Given the description of an element on the screen output the (x, y) to click on. 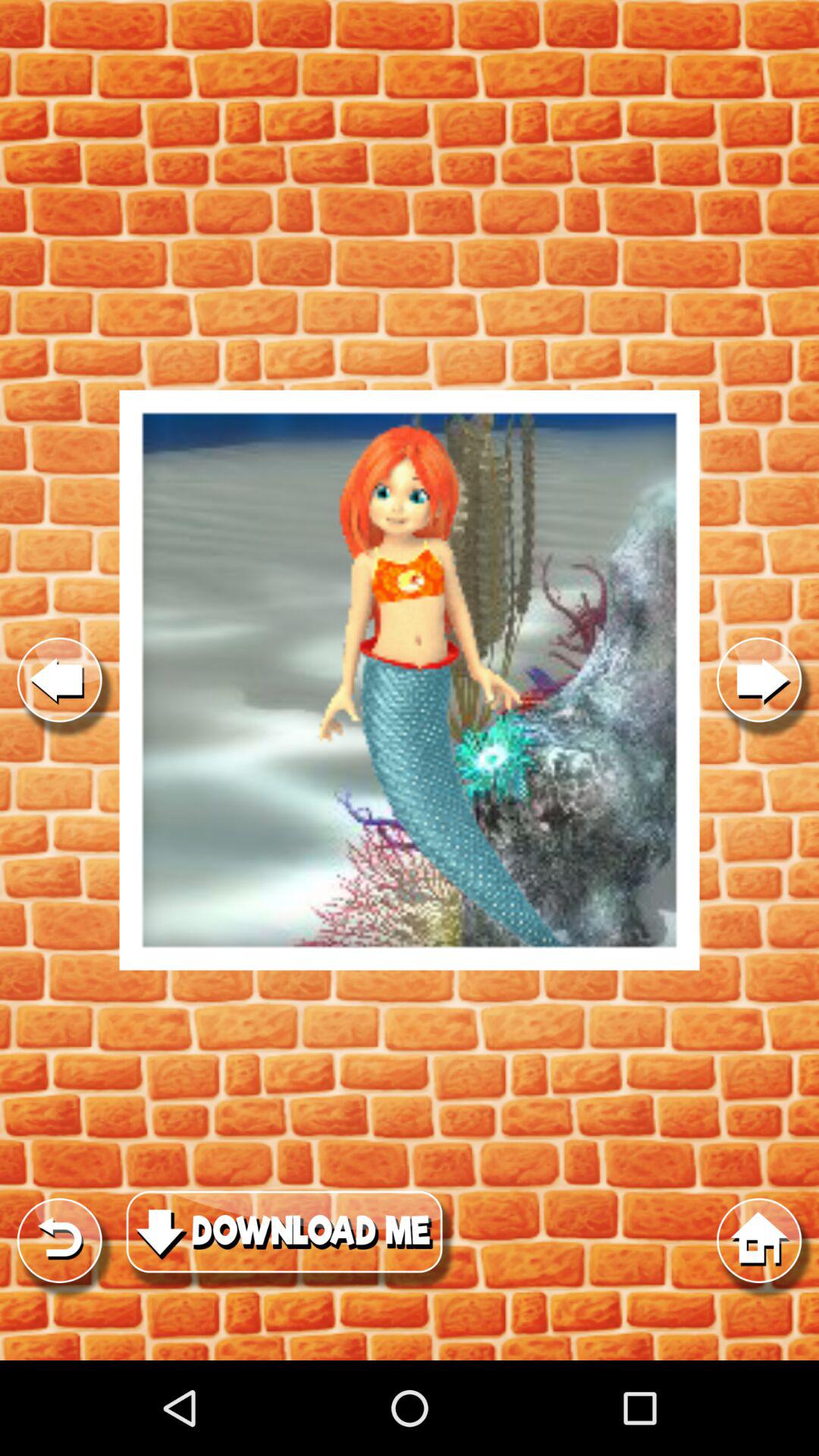
go back (59, 679)
